Given the description of an element on the screen output the (x, y) to click on. 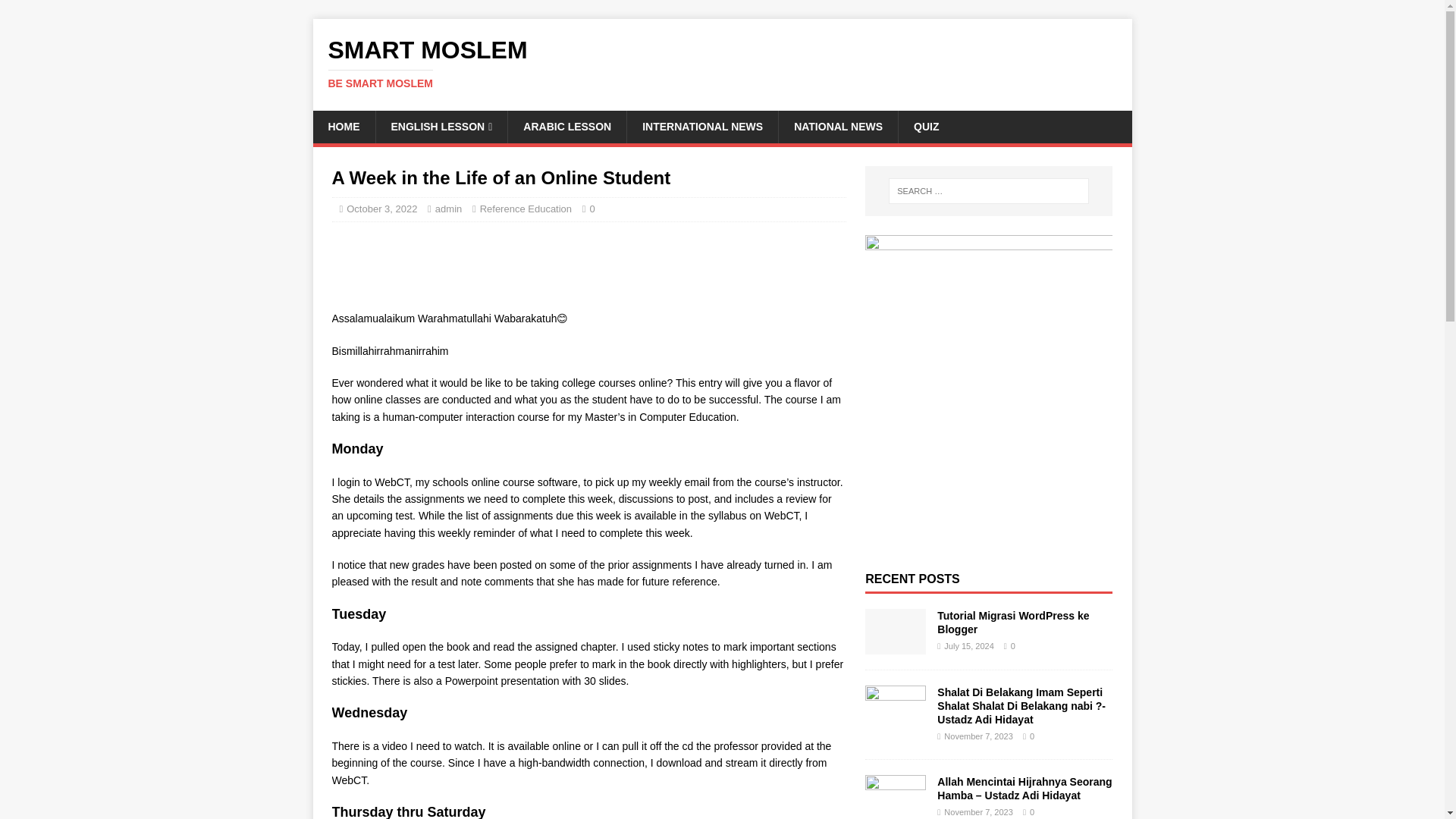
ARABIC LESSON (566, 126)
Search (56, 11)
October 3, 2022 (381, 208)
Reference Education (526, 208)
Tutorial Migrasi WordPress ke Blogger (1013, 622)
ENGLISH LESSON (440, 126)
Tutorial Migrasi WordPress ke Blogger (1013, 622)
admin (721, 63)
NATIONAL NEWS (448, 208)
Smart Moslem (837, 126)
INTERNATIONAL NEWS (721, 63)
